Given the description of an element on the screen output the (x, y) to click on. 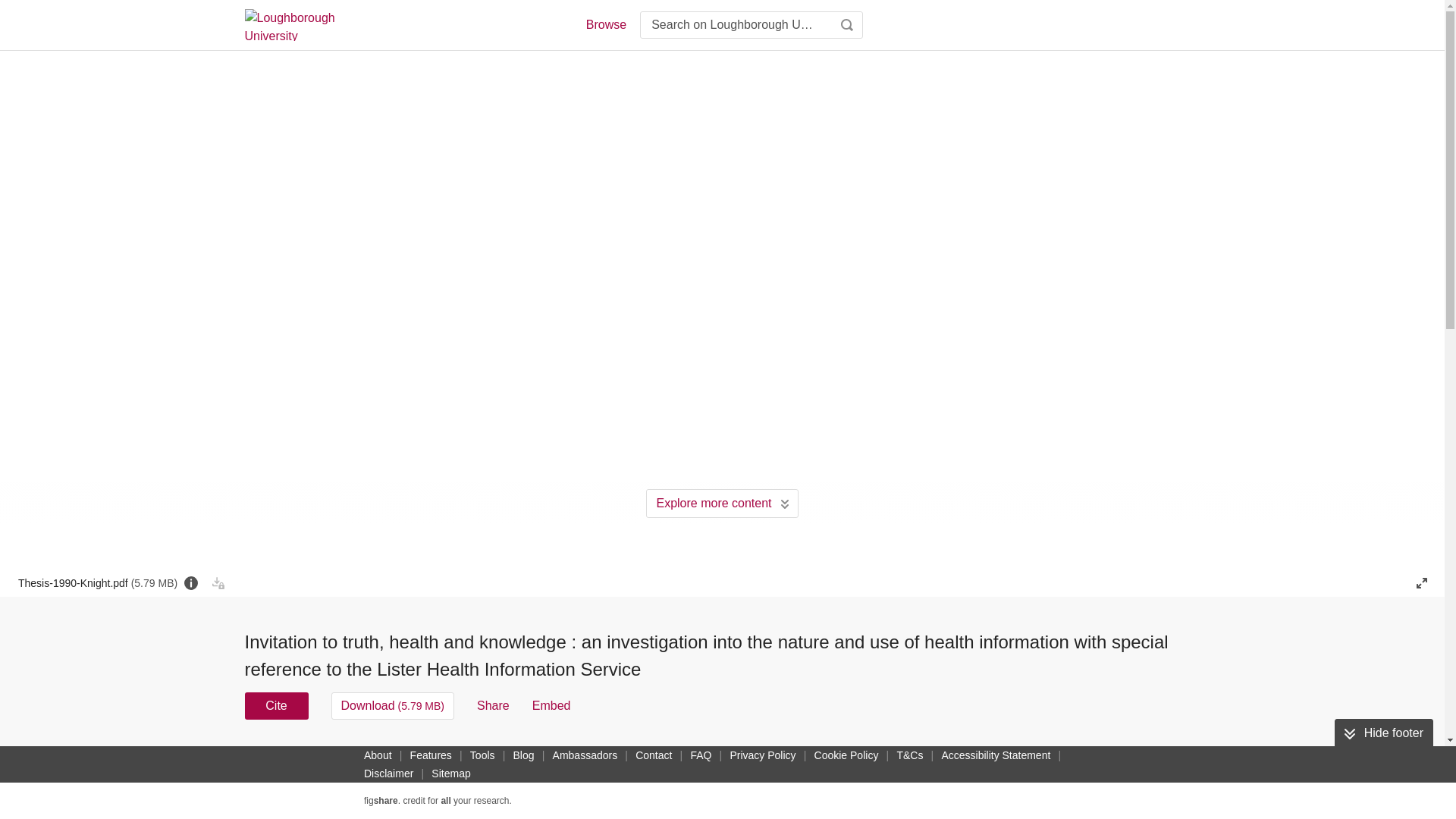
Hide footer (1383, 733)
Contact (653, 755)
Privacy Policy (762, 755)
Accessibility Statement (995, 755)
Cookie Policy (846, 755)
USAGE METRICS (976, 759)
Thesis-1990-Knight.pdf (97, 583)
Embed (551, 705)
Cite (275, 705)
Explore more content (721, 502)
About (377, 755)
Features (431, 755)
Blog (523, 755)
Share (493, 705)
